Given the description of an element on the screen output the (x, y) to click on. 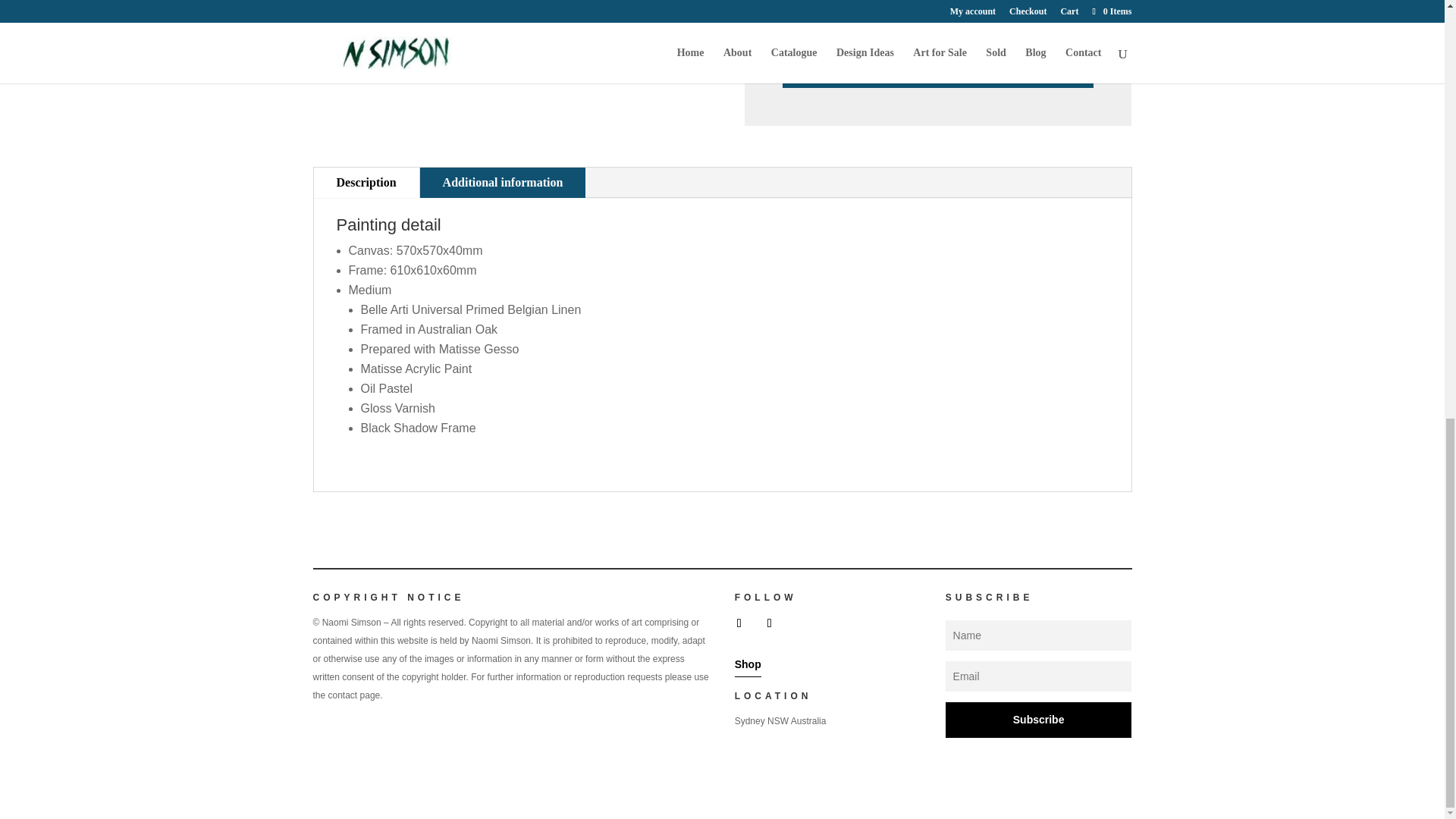
Subscribe (1038, 719)
Description (366, 182)
Follow on Instagram (769, 622)
Additional information (503, 182)
Click here (938, 38)
Shop (748, 664)
Follow on Facebook (738, 622)
